Given the description of an element on the screen output the (x, y) to click on. 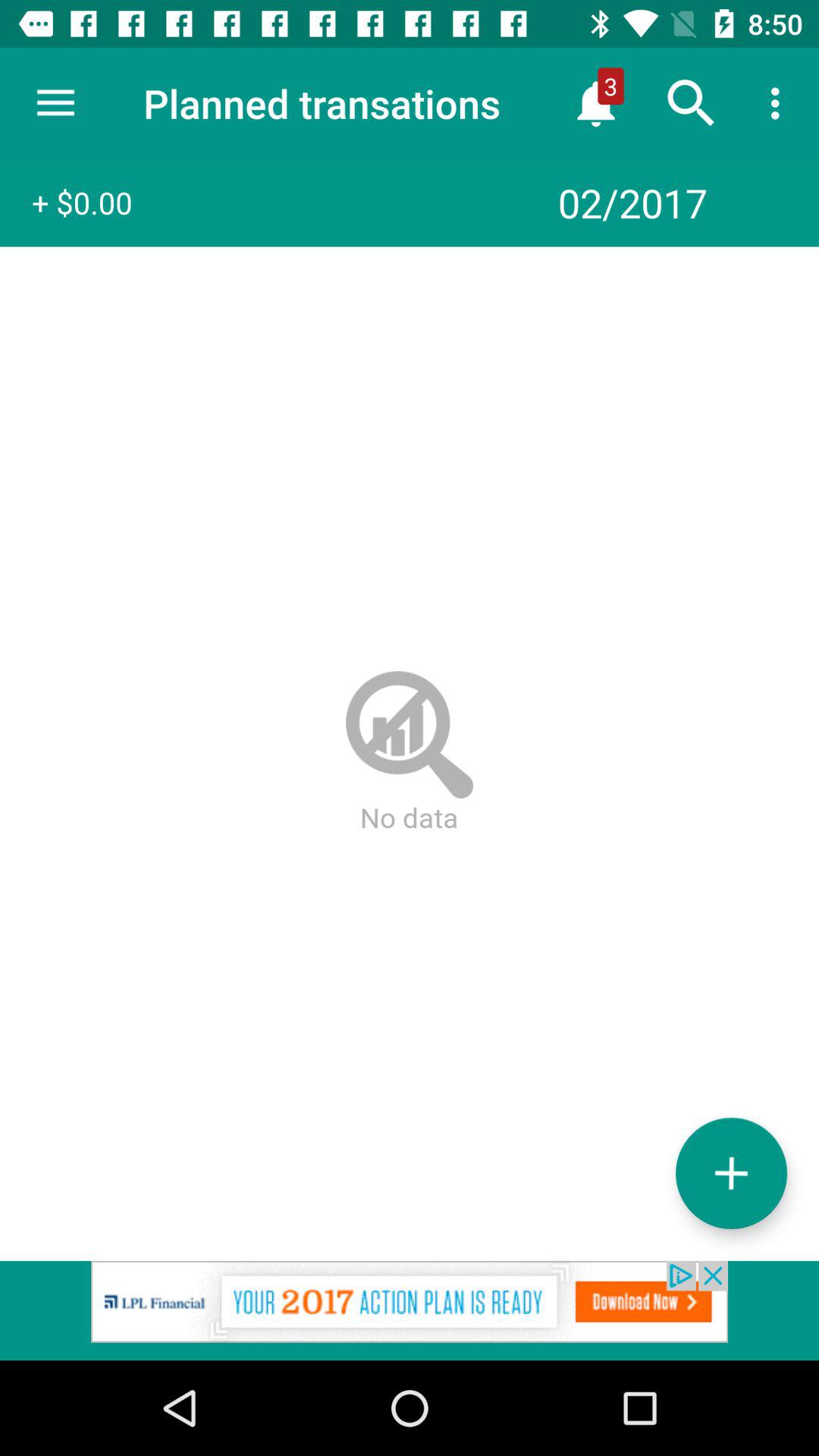
go to add option (731, 1173)
